Given the description of an element on the screen output the (x, y) to click on. 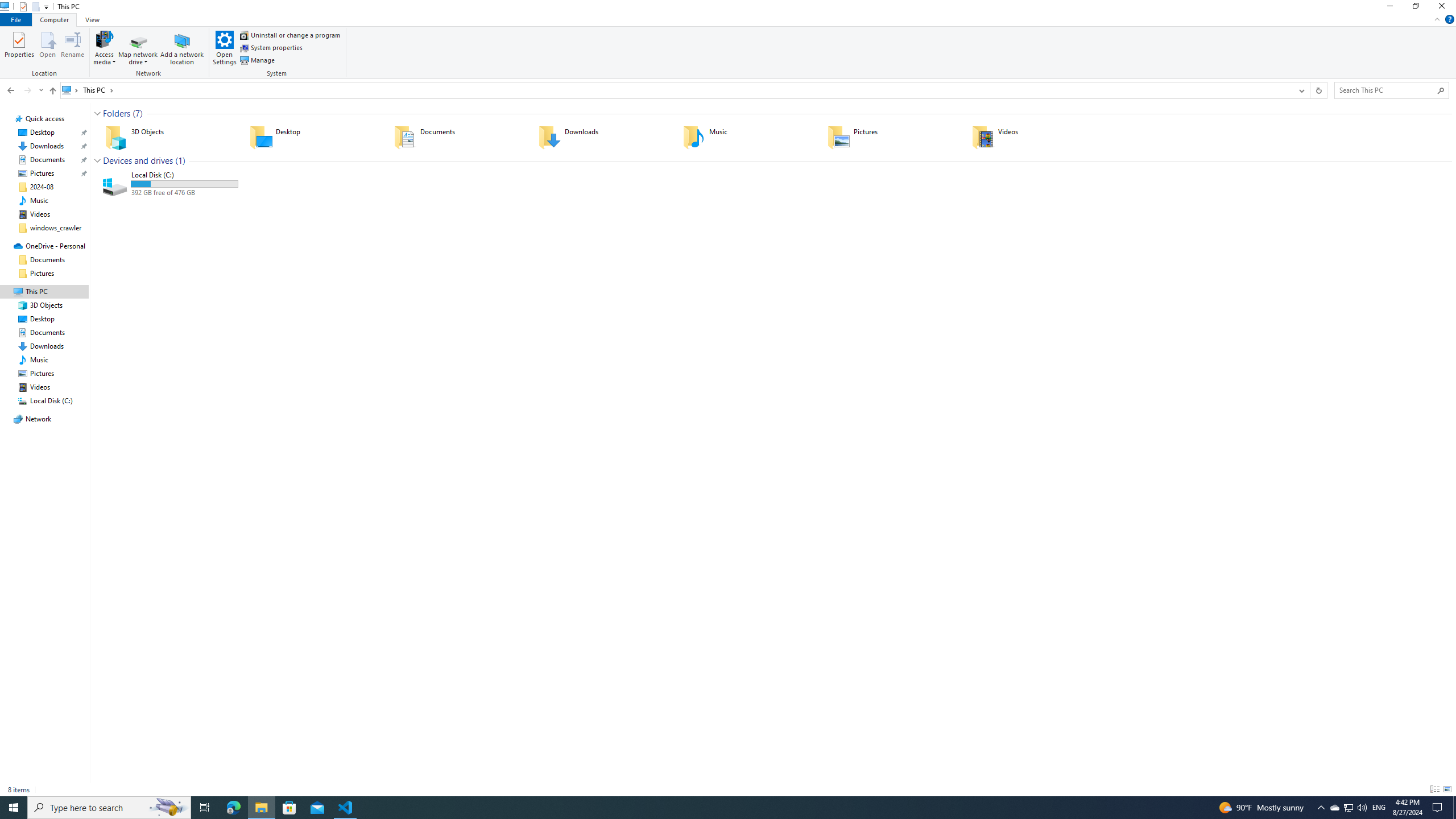
Videos (39, 214)
Pictures (892, 136)
Add a network location (181, 47)
Available space (183, 192)
This PC (98, 89)
2024-08 (42, 187)
Location (46, 52)
Rename (72, 47)
System (6, 6)
Network (149, 52)
Search (1441, 90)
Up band toolbar (52, 92)
